Given the description of an element on the screen output the (x, y) to click on. 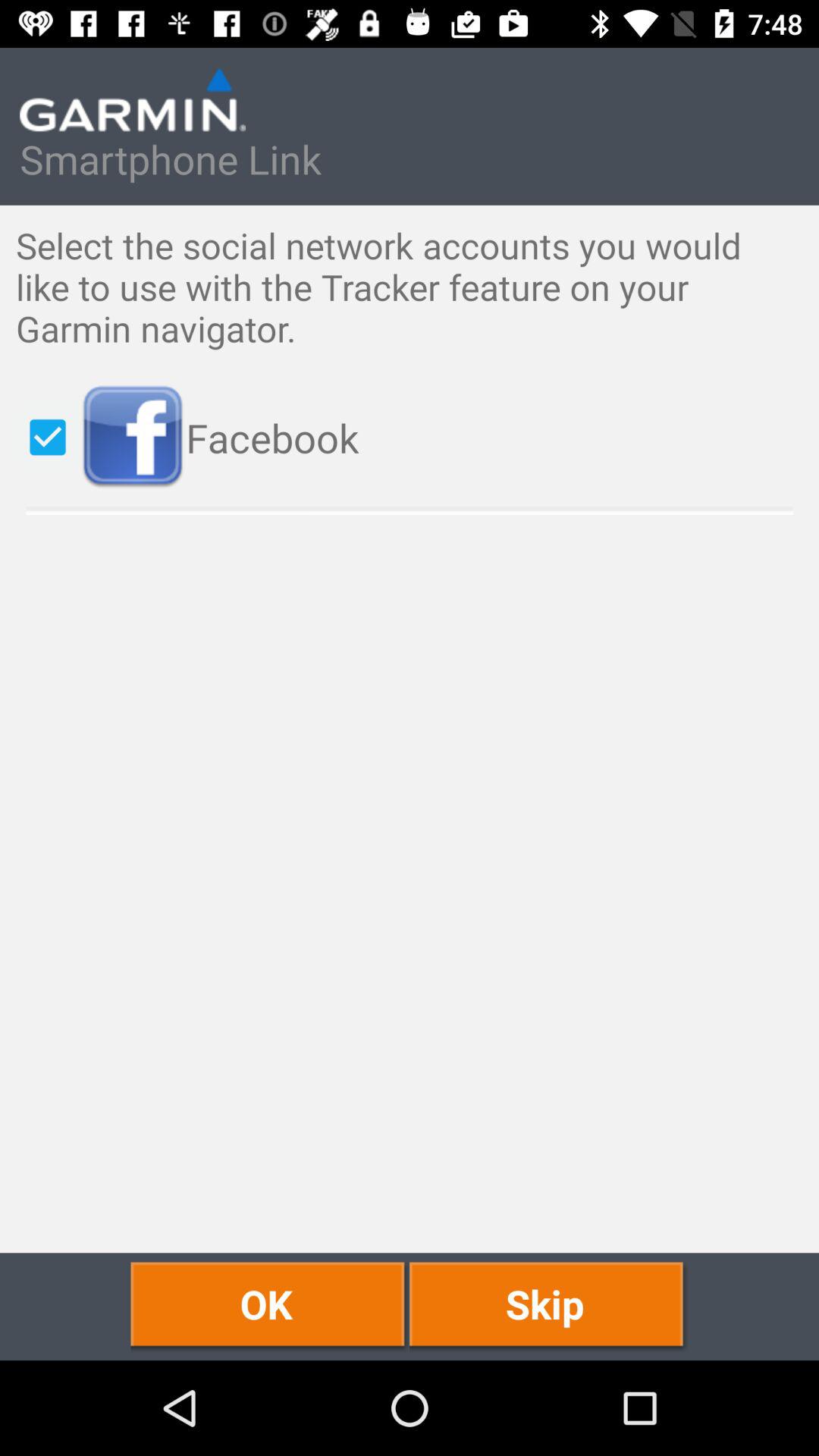
tap item below the facebook icon (548, 1306)
